Given the description of an element on the screen output the (x, y) to click on. 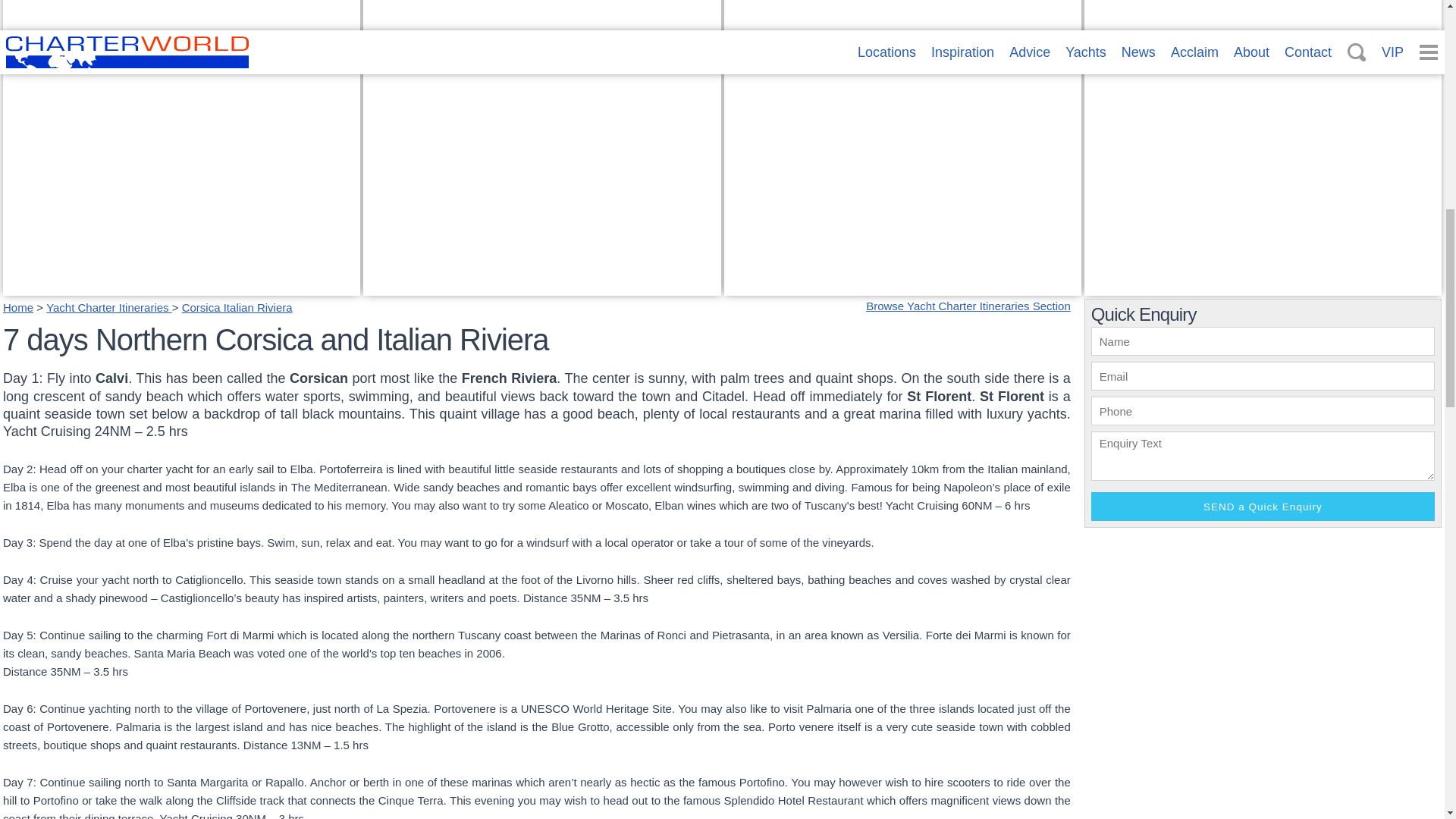
Eternity (901, 286)
Yacht Charter Itineraries   (541, 286)
Royal Huisman delivers Project ... (1186, 268)
Browse Yacht Charter Itineraries Section (968, 305)
Yacht Charter Itineraries (108, 307)
Yacht Charter Itineraries (437, 268)
Royal Huisman delivers Project ... (1262, 286)
Eternity (180, 286)
Italian Riviera Near Portofino  (751, 268)
